Given the description of an element on the screen output the (x, y) to click on. 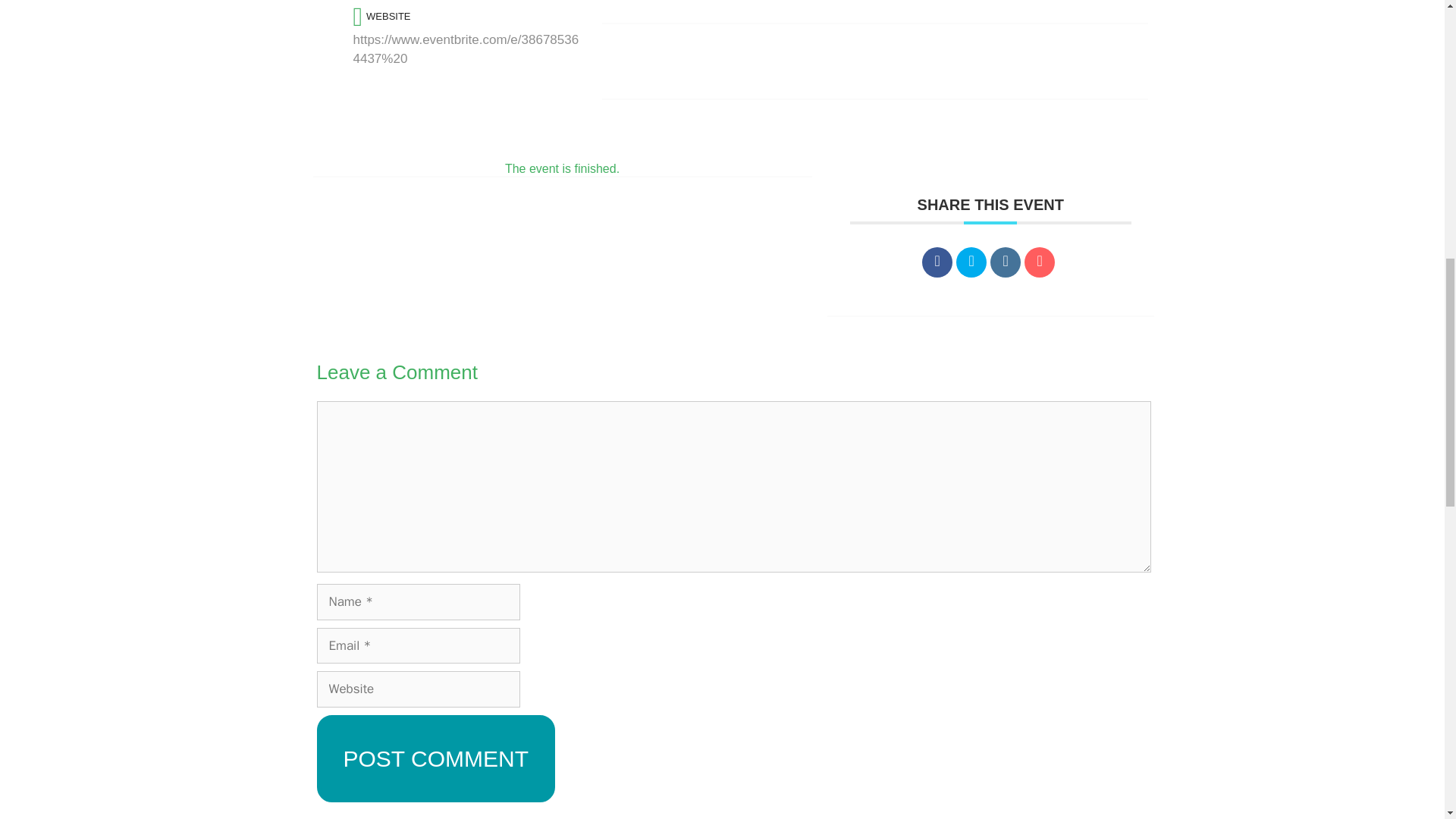
Linkedin (1005, 262)
Share on Facebook (936, 262)
Scroll back to top (1406, 720)
Tweet (971, 262)
Post Comment (435, 758)
Email (1039, 262)
